Given the description of an element on the screen output the (x, y) to click on. 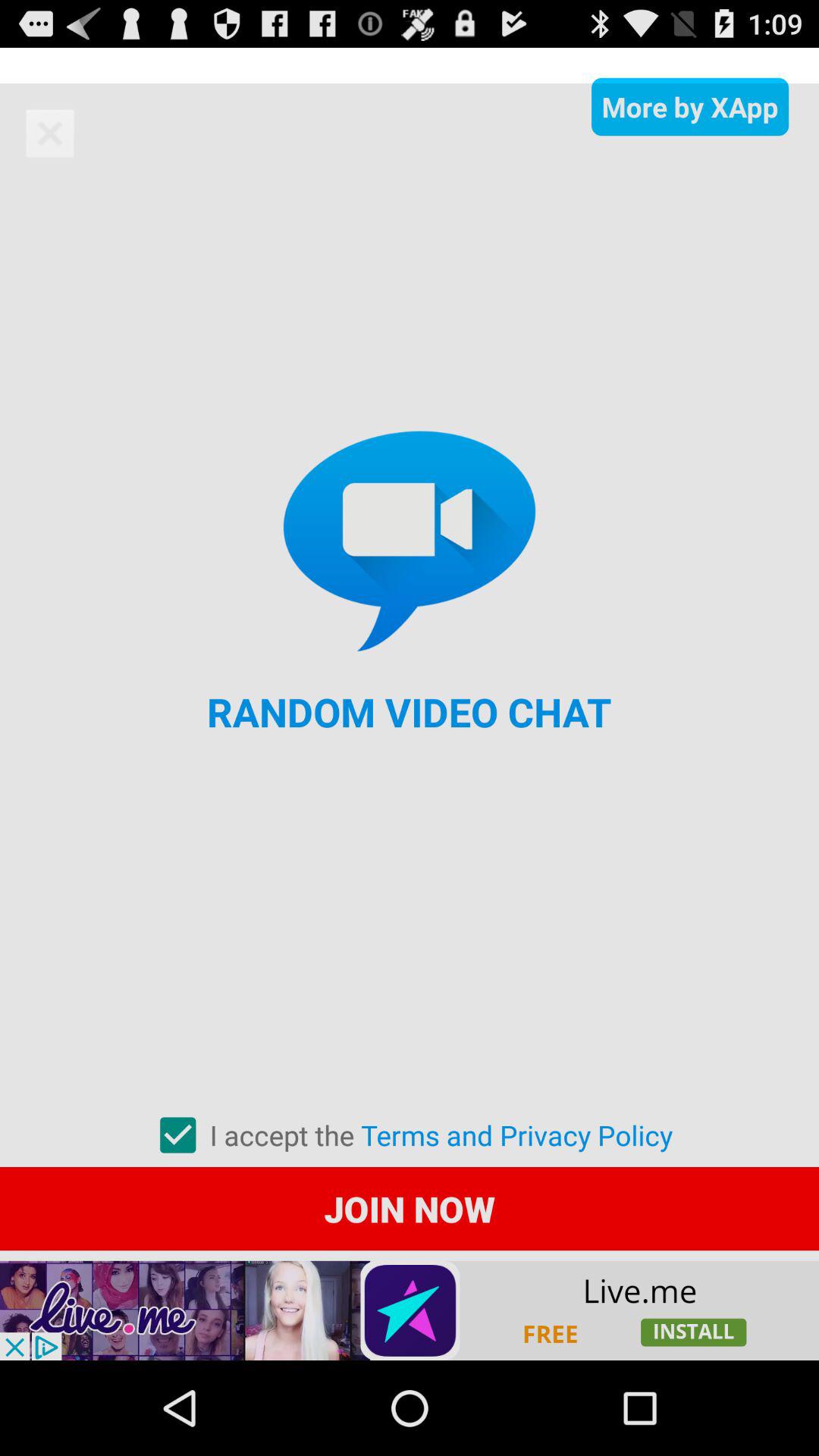
click tic button (177, 1135)
